Given the description of an element on the screen output the (x, y) to click on. 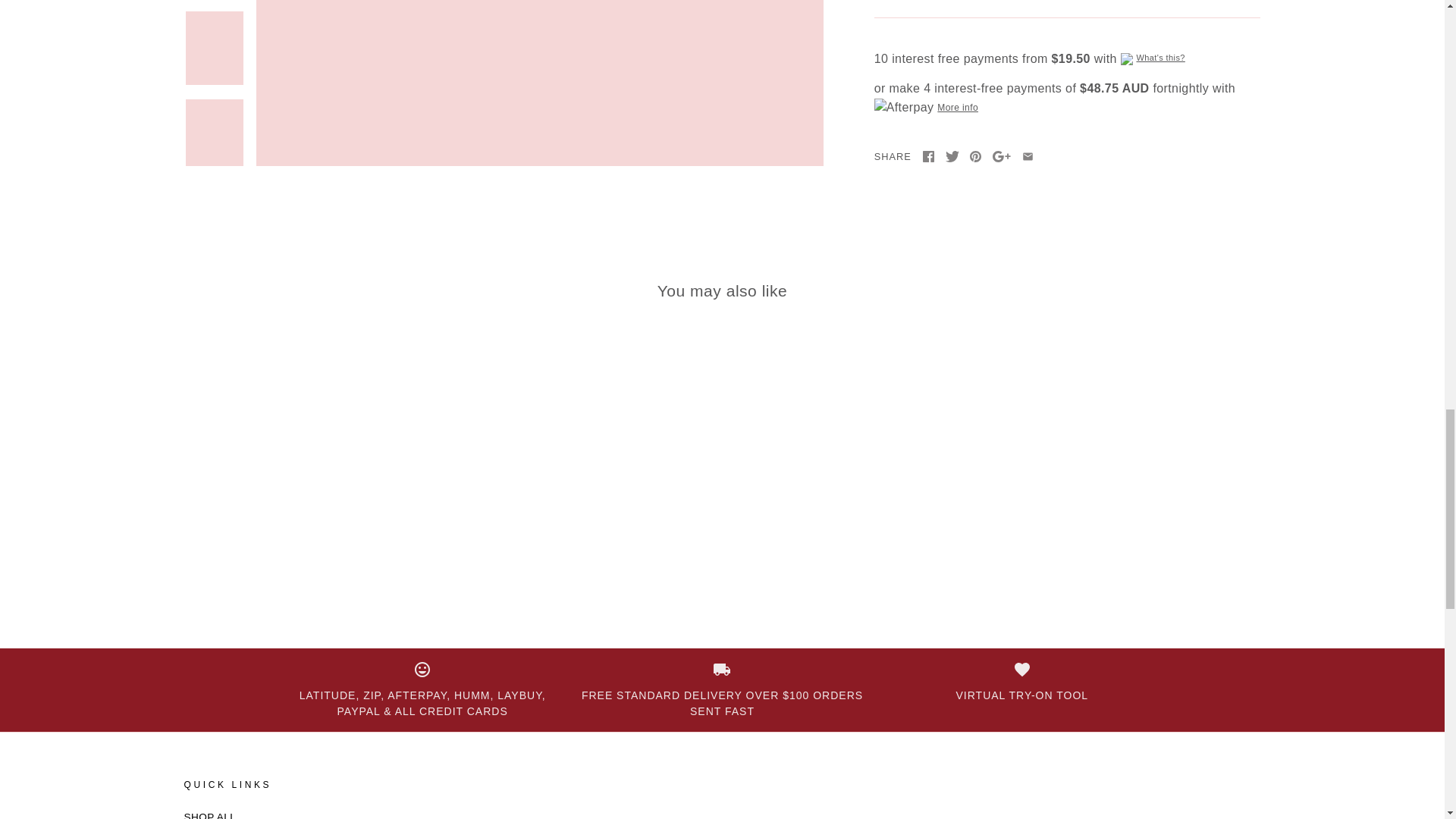
GooglePlus (1001, 156)
Share on Twitter (951, 156)
Twitter (951, 156)
Facebook (928, 156)
Pinterest (975, 156)
